Given the description of an element on the screen output the (x, y) to click on. 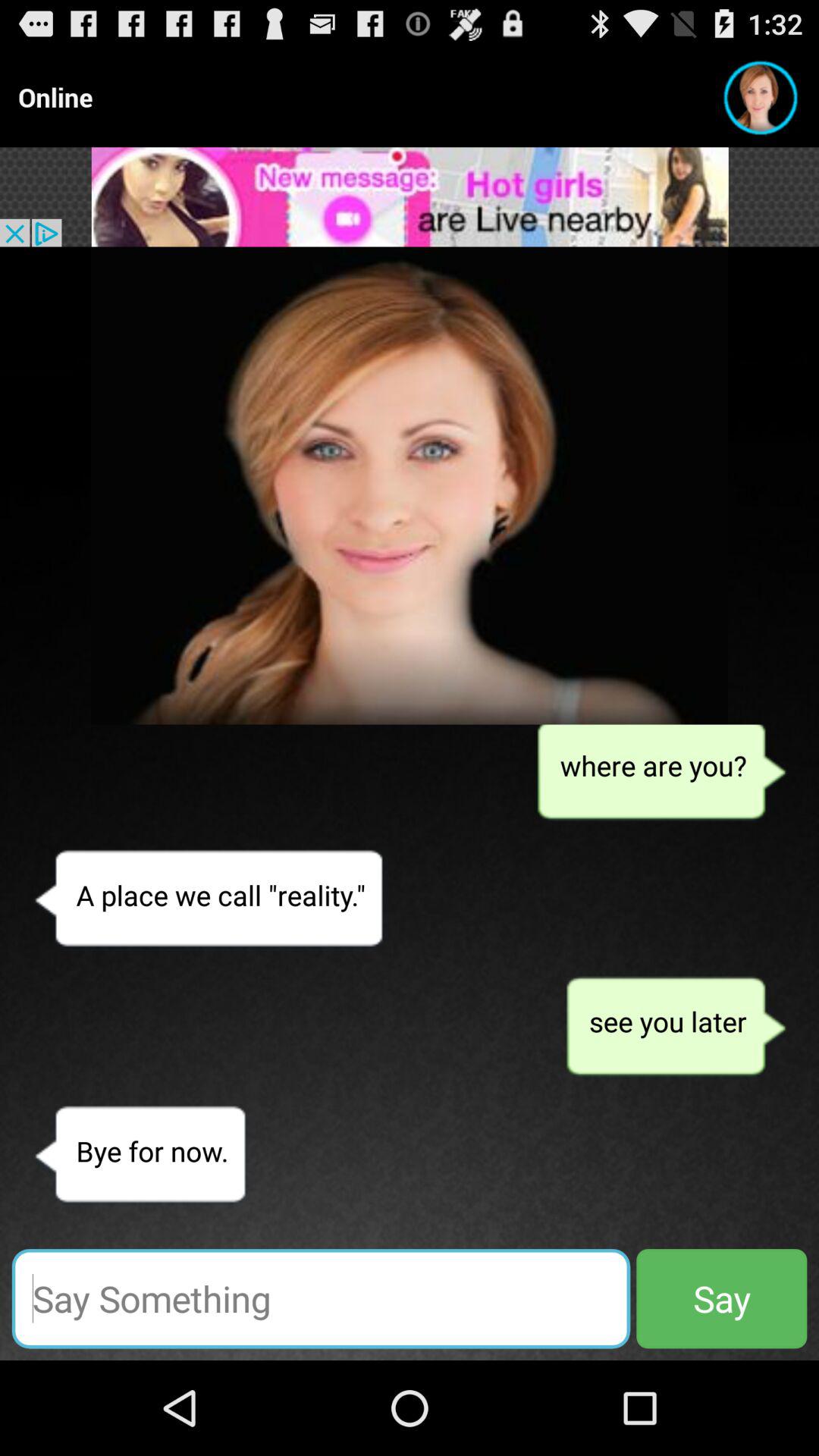
go to chating (320, 1298)
